Given the description of an element on the screen output the (x, y) to click on. 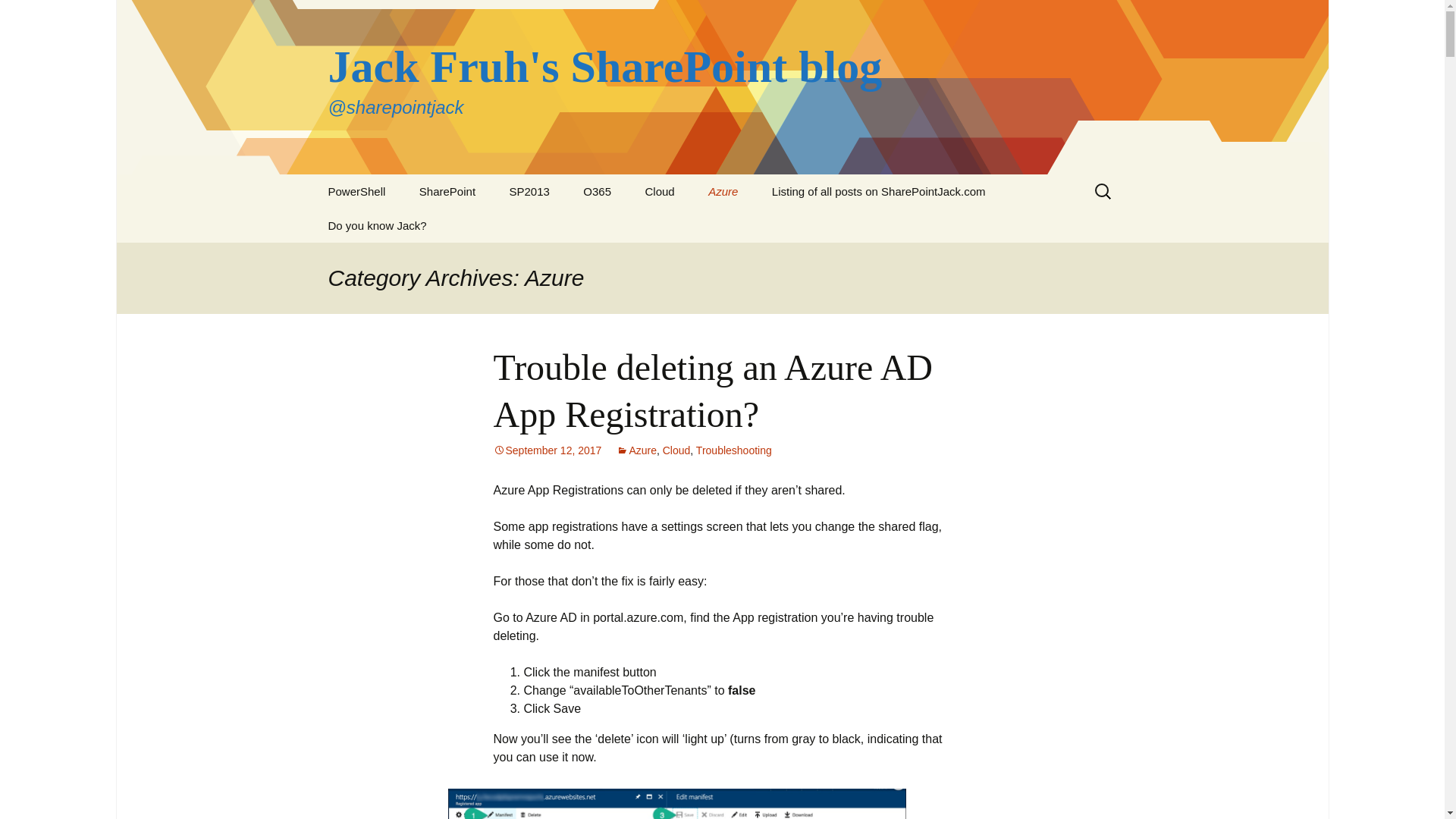
Permalink to Trouble deleting an Azure AD App Registration? (547, 450)
SP2013 (529, 191)
Azure (722, 191)
Search (18, 15)
Cloud (676, 450)
Cloud (658, 191)
SharePoint (447, 191)
Troubleshooting (733, 450)
PowerShell (356, 191)
Listing of all posts on SharePointJack.com (879, 191)
Azure (635, 450)
Trouble deleting an Azure AD App Registration? (712, 390)
Do you know Jack? (377, 225)
September 12, 2017 (547, 450)
